Given the description of an element on the screen output the (x, y) to click on. 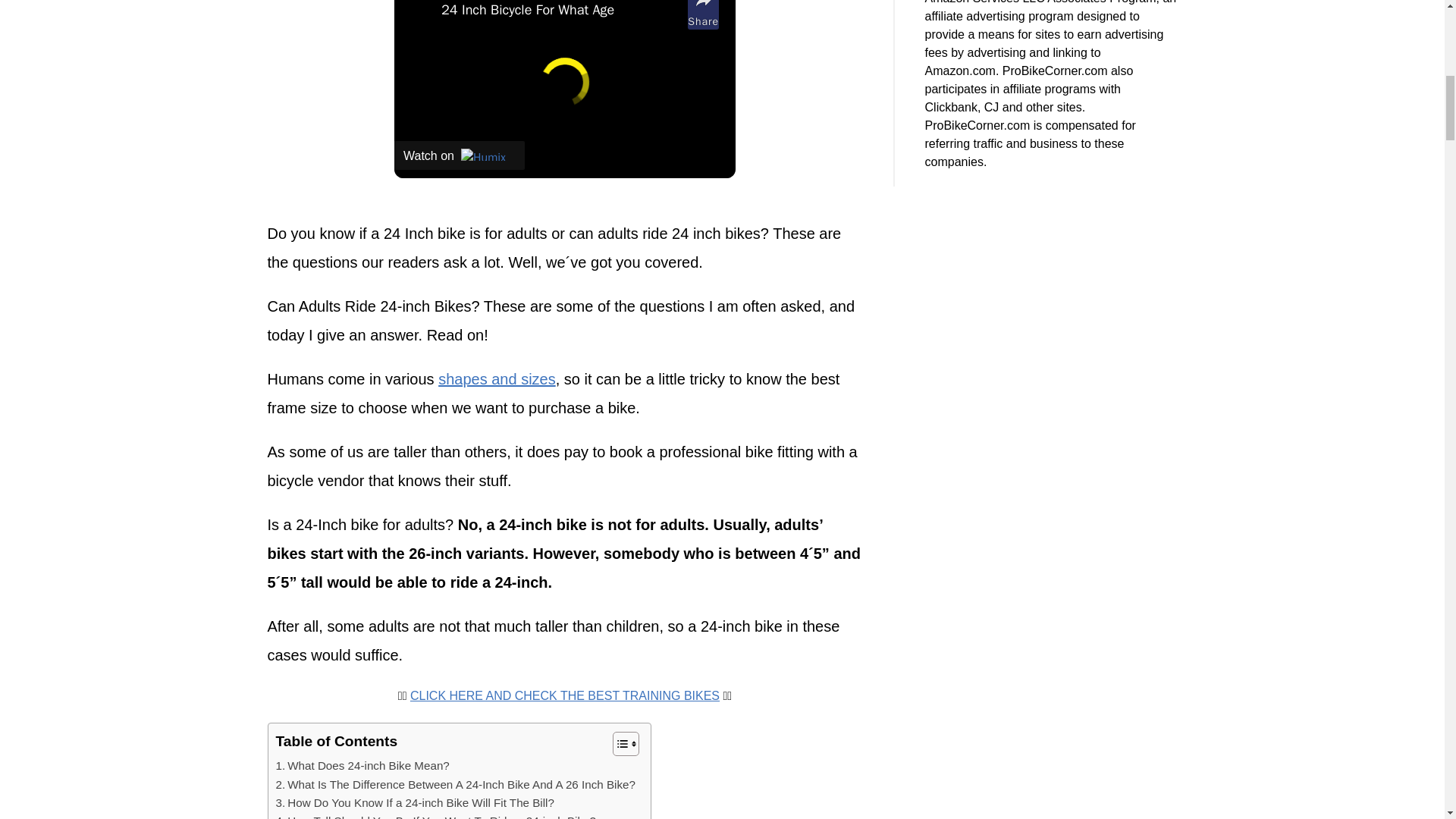
Watch on (459, 154)
share (703, 14)
What Does 24-inch Bike Mean? (362, 765)
How Do You Know If a 24-inch Bike Will Fit The Bill? (415, 802)
How Tall Should You Be If You Want To Ride a 24-inch Bike? (435, 815)
shapes and sizes (497, 379)
CLICK HERE AND CHECK THE BEST TRAINING BIKES (564, 695)
24 Inch Bicycle For What Age (560, 10)
How Tall Should You Be If You Want To Ride a 24-inch Bike? (435, 815)
What Does 24-inch Bike Mean? (362, 765)
Share (703, 14)
How Do You Know If a 24-inch Bike Will Fit The Bill? (415, 802)
